Given the description of an element on the screen output the (x, y) to click on. 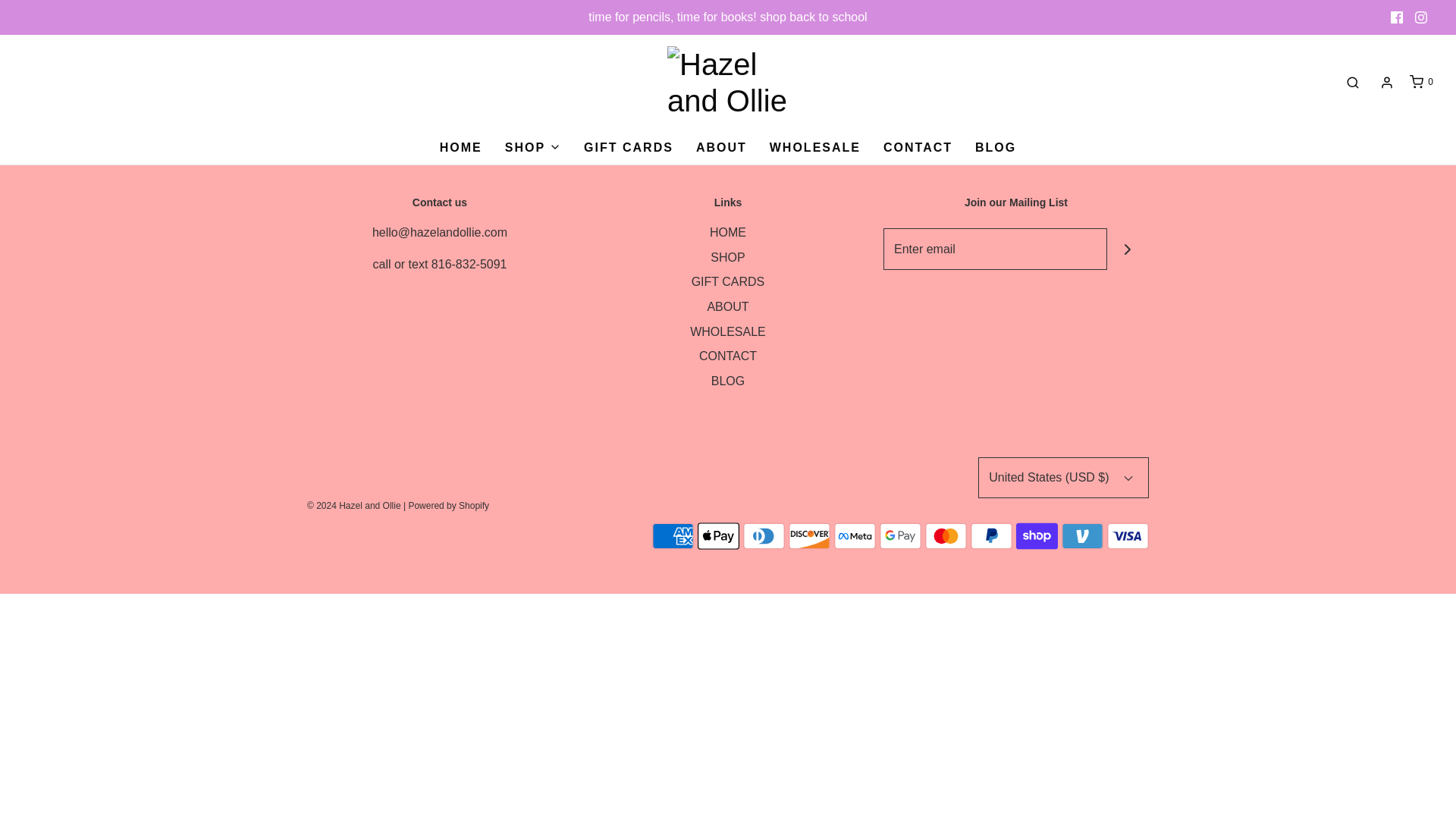
facebook icon (1396, 17)
Cart (1419, 82)
Visa (1127, 535)
Meta Pay (855, 535)
facebook icon (1396, 16)
Apple Pay (718, 535)
BLOG (995, 147)
Mastercard (945, 535)
Shop Pay (1037, 535)
GIFT CARDS (627, 147)
